Given the description of an element on the screen output the (x, y) to click on. 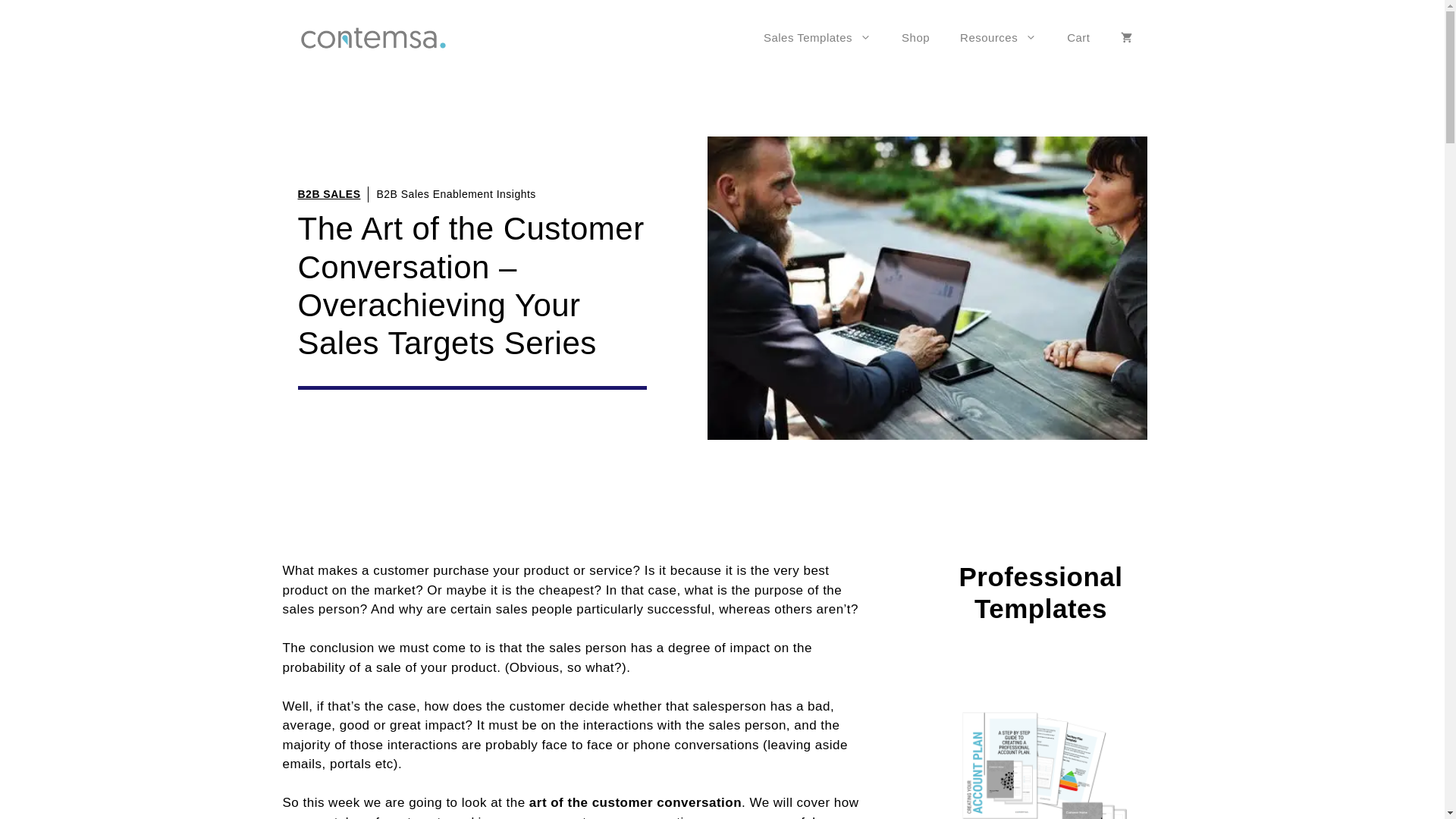
Cart (1078, 37)
Shop (915, 37)
Sales Templates (817, 37)
View your shopping cart (1126, 37)
Account Plan Template Pack (1040, 760)
B2B SALES (328, 193)
Resources (997, 37)
Contemsa (372, 37)
Contemsa (372, 36)
